Given the description of an element on the screen output the (x, y) to click on. 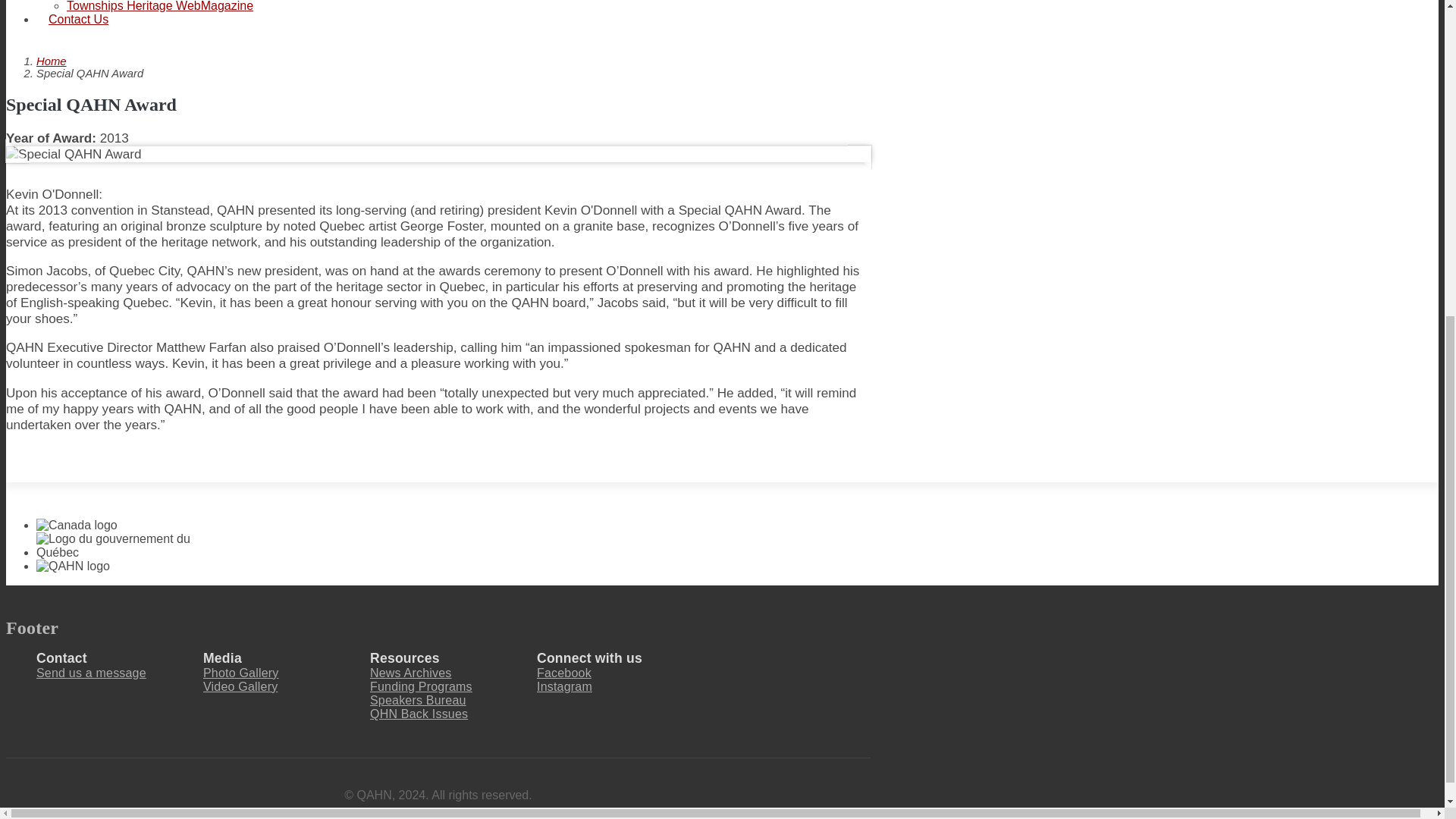
Home (51, 61)
Contact Us (78, 19)
Townships Heritage WebMagazine (159, 6)
